Given the description of an element on the screen output the (x, y) to click on. 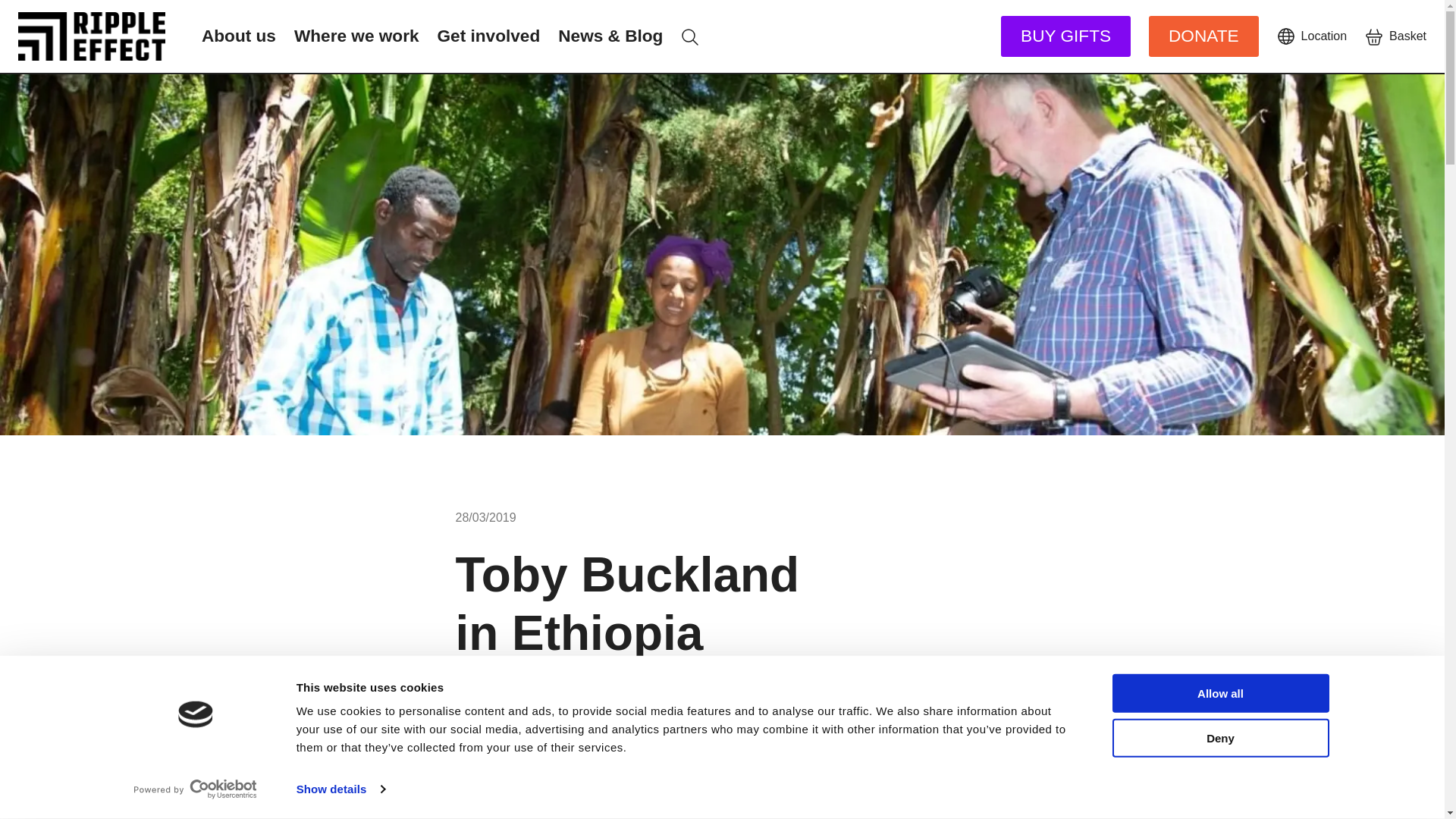
Show details (340, 789)
